Given the description of an element on the screen output the (x, y) to click on. 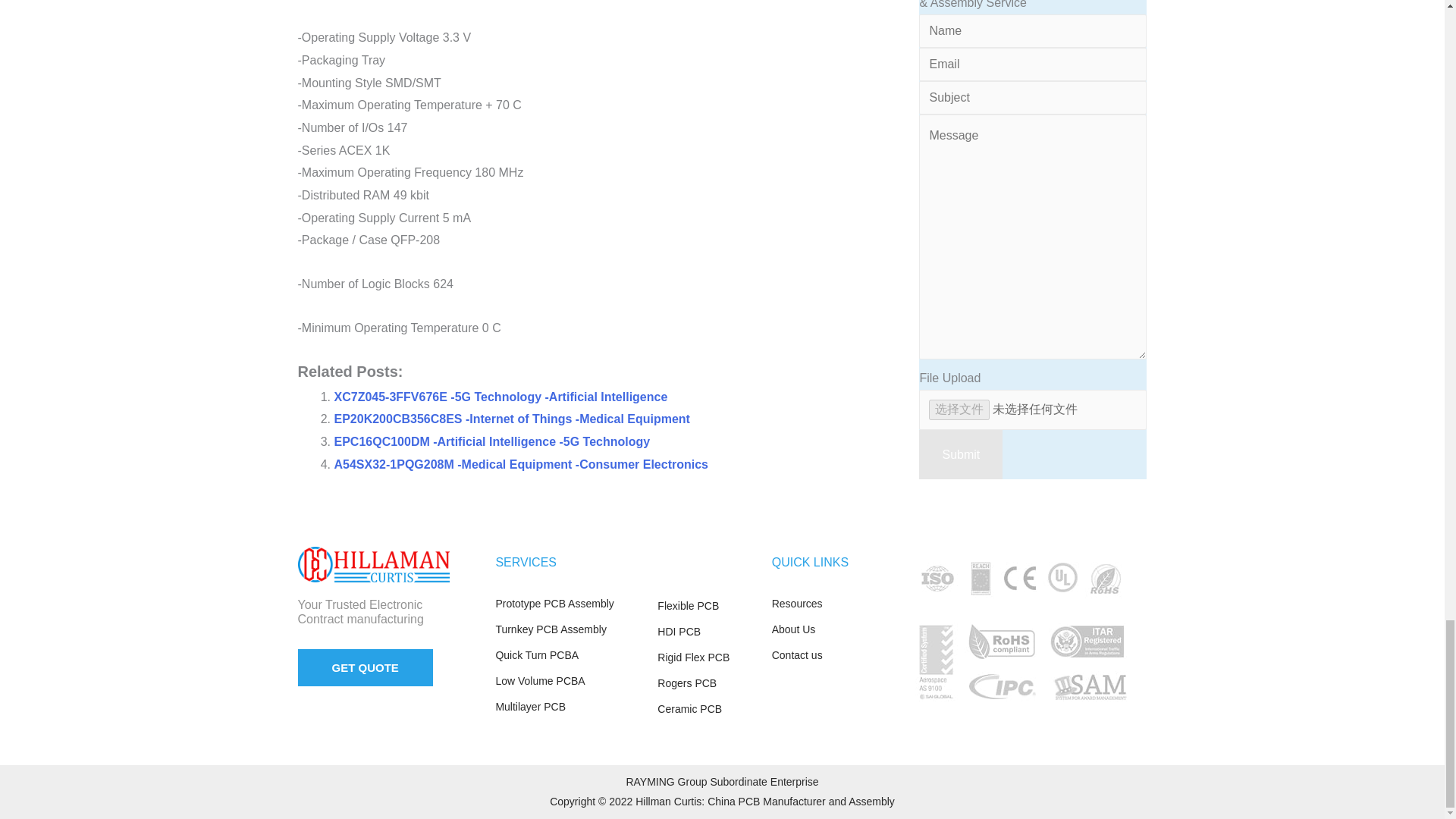
A54SX32-1PQG208M -Medical Equipment -Consumer Electronics (520, 463)
Low Volume PCBA (568, 681)
Turnkey PCB Assembly (568, 629)
Quick Turn PCBA (568, 655)
XC7Z045-3FFV676E -5G Technology -Artificial Intelligence (499, 396)
GET QUOTE (364, 667)
Multilayer PCB (568, 707)
XC7Z045-3FFV676E -5G Technology -Artificial Intelligence (499, 396)
EP20K200CB356C8ES -Internet of Things -Medical Equipment (510, 418)
EP20K200CB356C8ES -Internet of Things -Medical Equipment (510, 418)
